Given the description of an element on the screen output the (x, y) to click on. 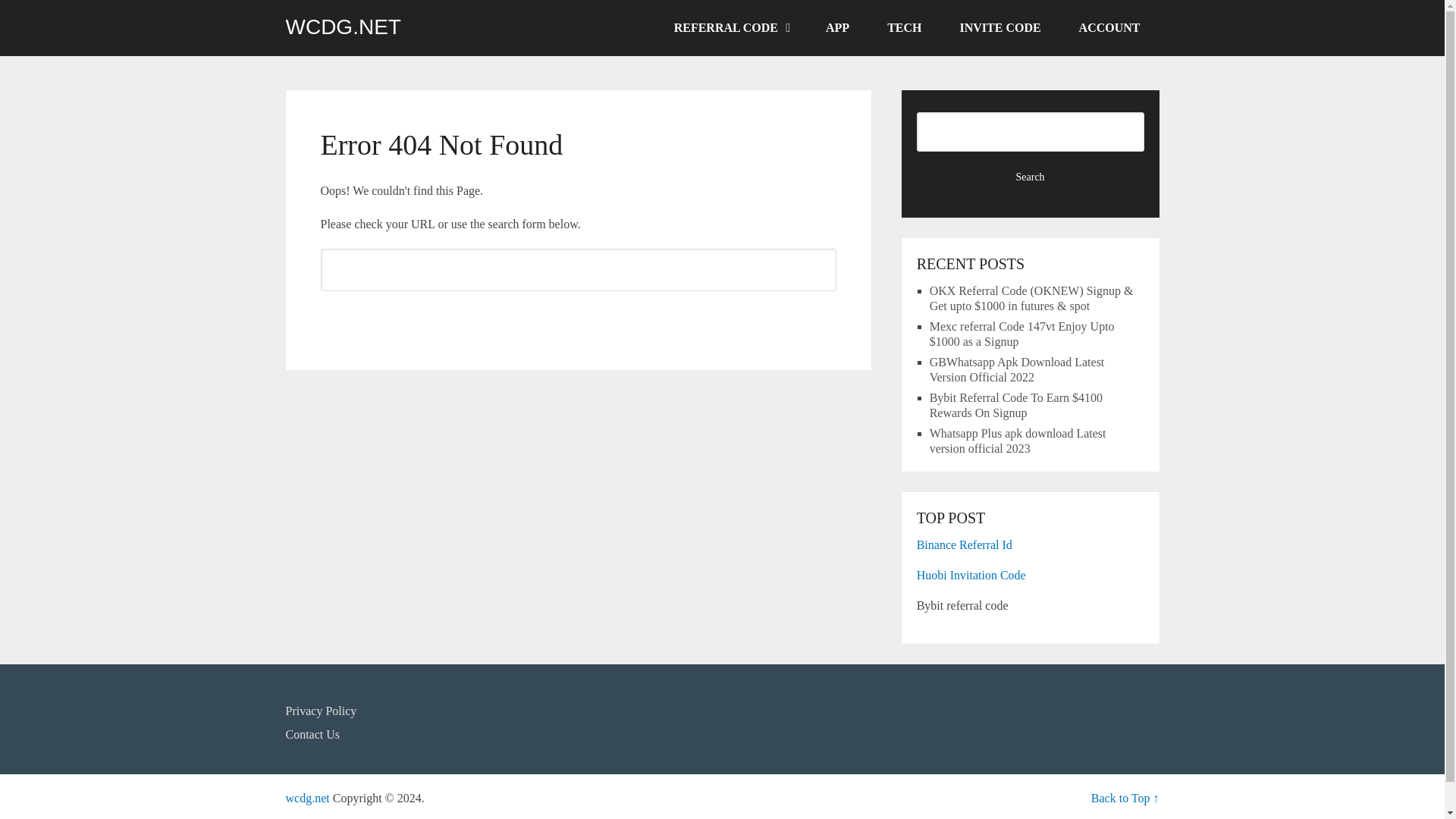
GBWhatsapp Apk Download Latest Version Official 2022 (1017, 369)
Whatsapp Plus apk download Latest version official 2023 (1018, 440)
ACCOUNT (1108, 28)
Binance Referral Id (964, 544)
Search (577, 316)
Privacy Policy (320, 710)
REFERRAL CODE (730, 28)
Huobi Invitation Code (971, 574)
wcdg.net (307, 797)
TECH (903, 28)
Search (577, 316)
Search (1030, 176)
INVITE CODE (999, 28)
APP (836, 28)
Contact Us (312, 734)
